Given the description of an element on the screen output the (x, y) to click on. 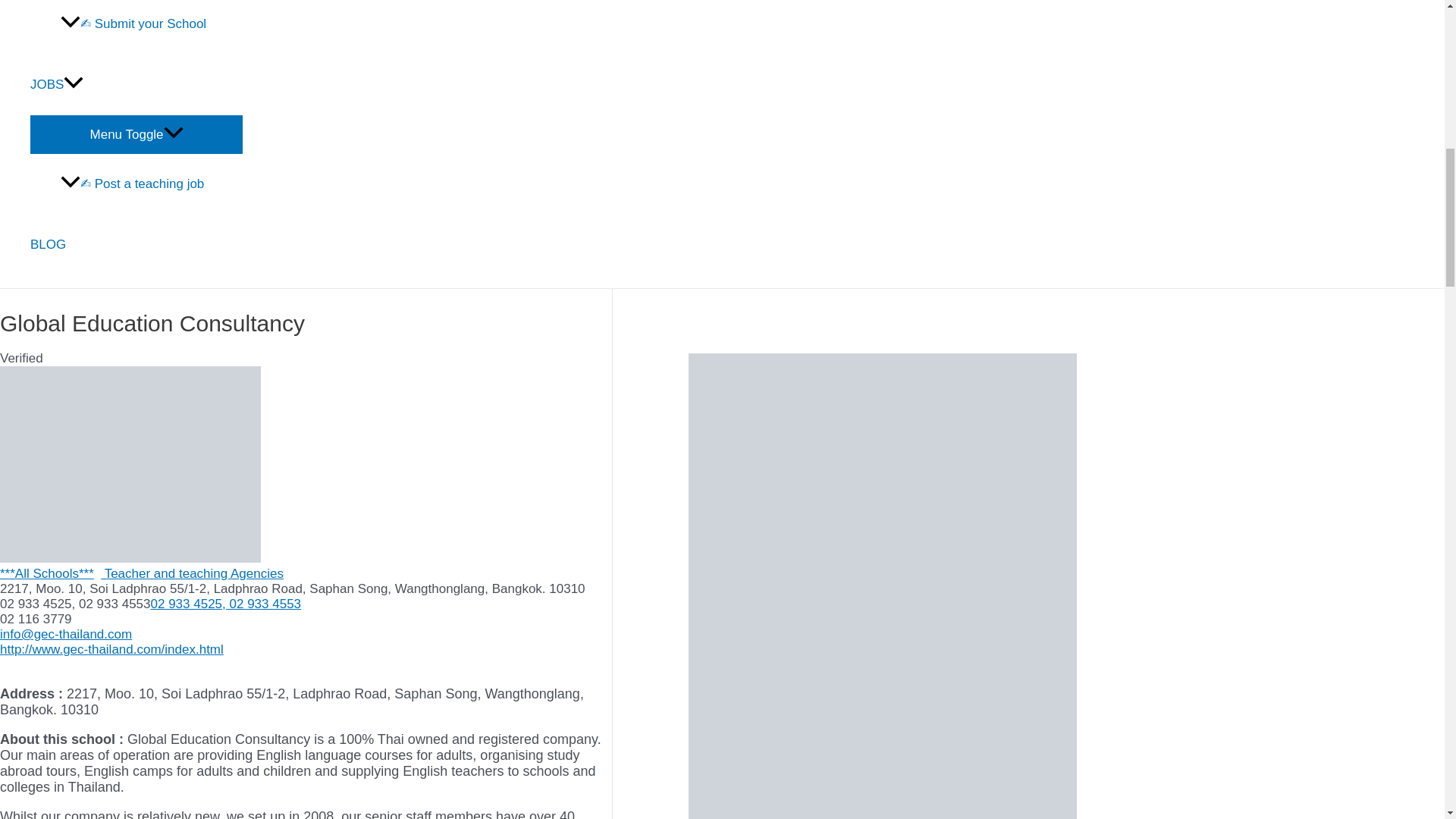
This is an owner verified listing. (21, 358)
BLOG (136, 244)
JOBS (136, 84)
Menu Toggle (136, 133)
